Given the description of an element on the screen output the (x, y) to click on. 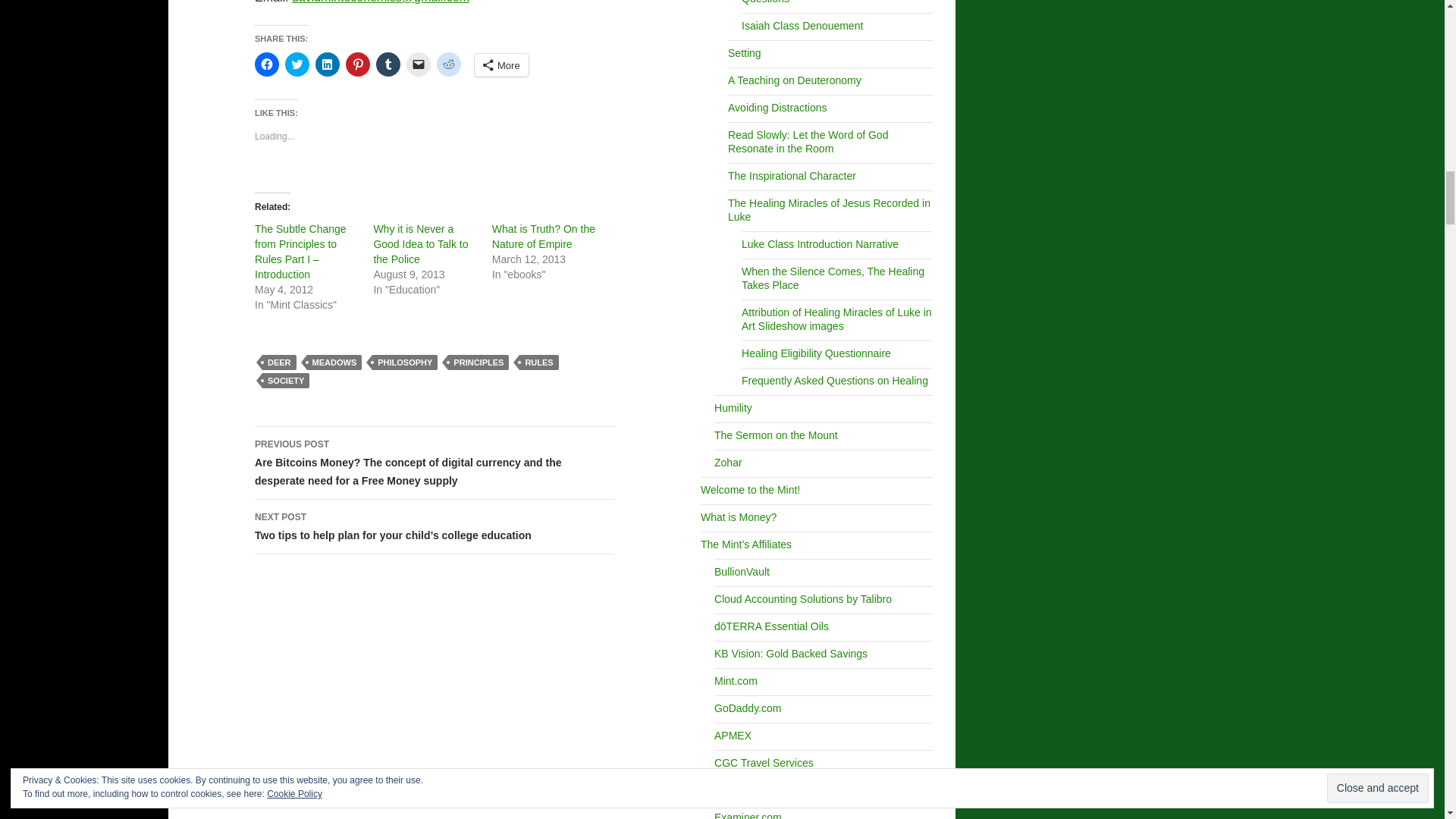
Click to share on Reddit (448, 64)
Click to email a link to a friend (418, 64)
Click to share on Twitter (296, 64)
Click to share on Tumblr (387, 64)
Click to share on Facebook (266, 64)
Click to share on Pinterest (357, 64)
Click to share on LinkedIn (327, 64)
